Given the description of an element on the screen output the (x, y) to click on. 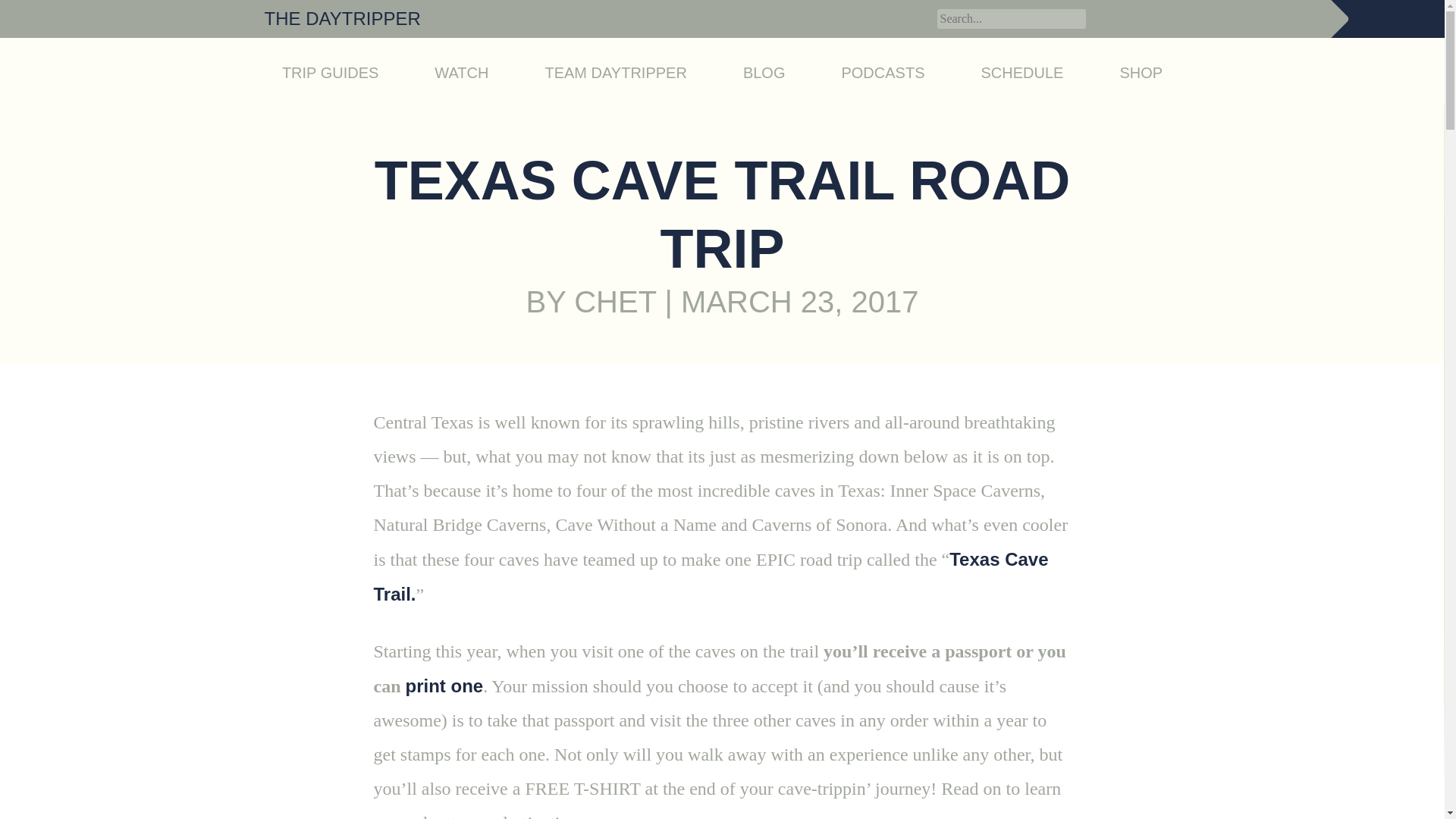
SHOP (1140, 72)
L (914, 16)
Texas Cave Trail. (710, 576)
BLOG (764, 72)
TRIP GUIDES (330, 72)
TEAM DAYTRIPPER (614, 72)
PODCASTS (882, 72)
print one (443, 685)
View your shopping cart (1387, 18)
WATCH (460, 72)
